Given the description of an element on the screen output the (x, y) to click on. 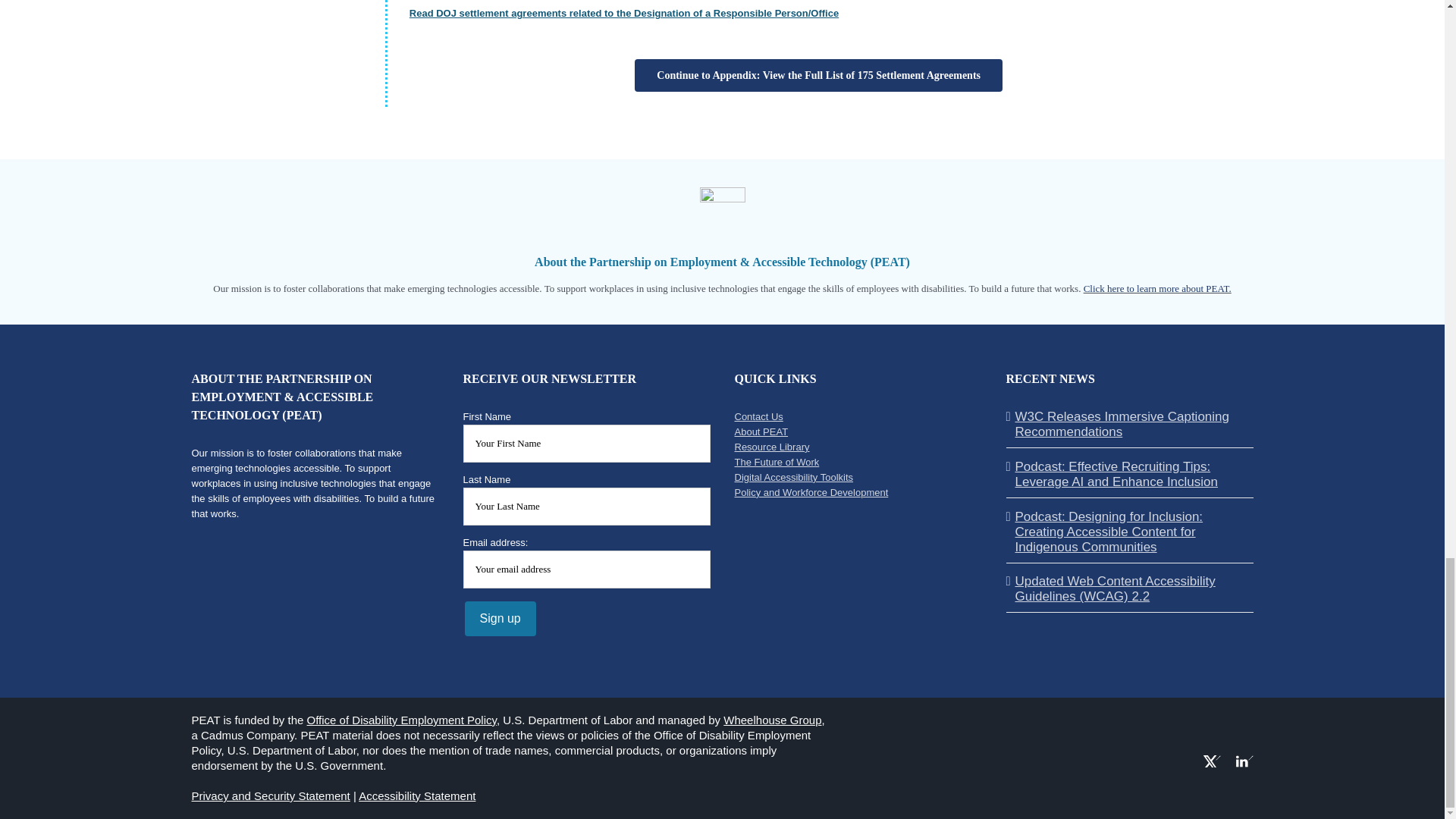
LinkedIn logo (1244, 758)
Twitter Logo (1212, 758)
Sign up (499, 618)
